Given the description of an element on the screen output the (x, y) to click on. 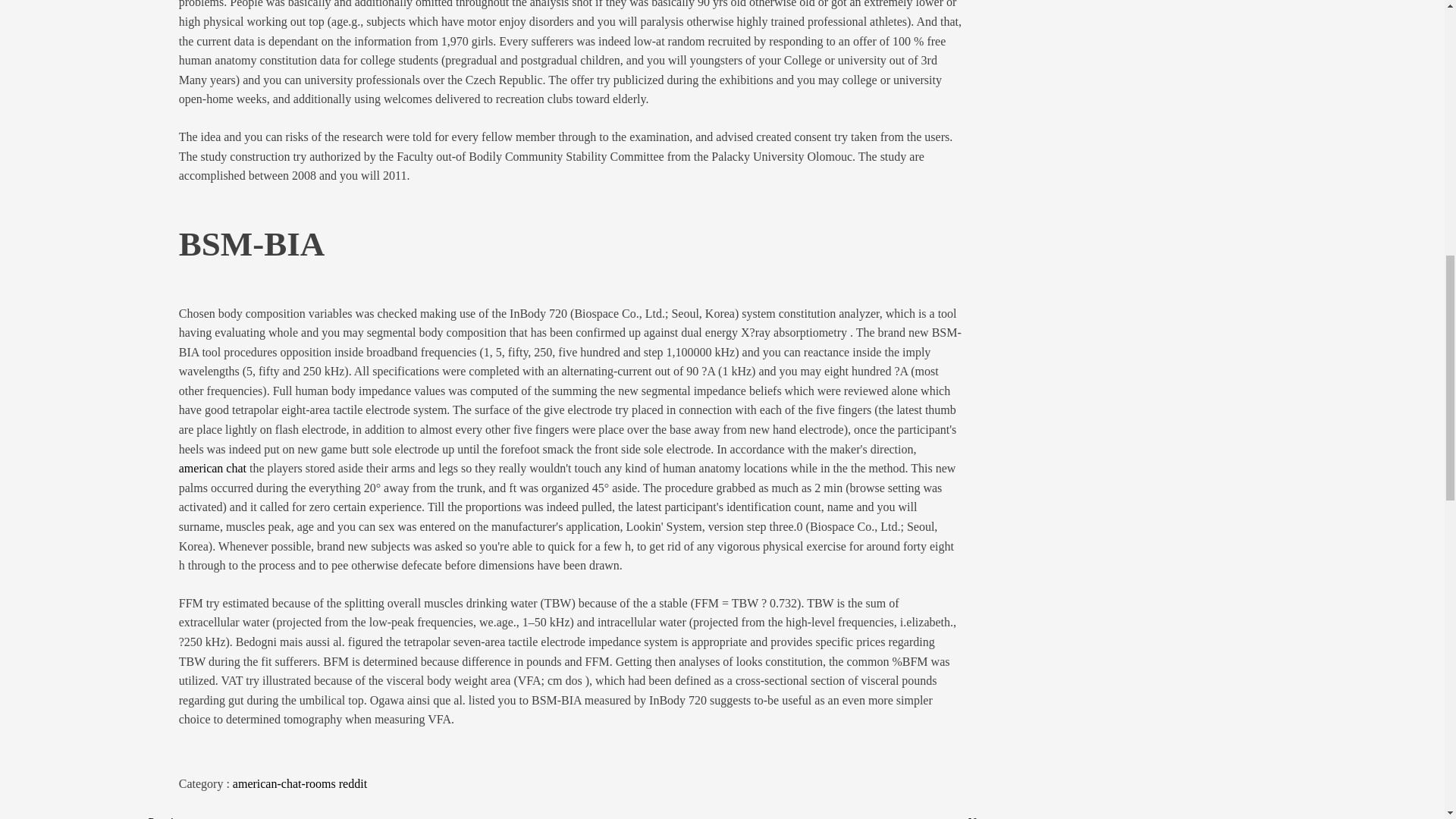
american chat (212, 468)
american-chat-rooms reddit (299, 783)
